Given the description of an element on the screen output the (x, y) to click on. 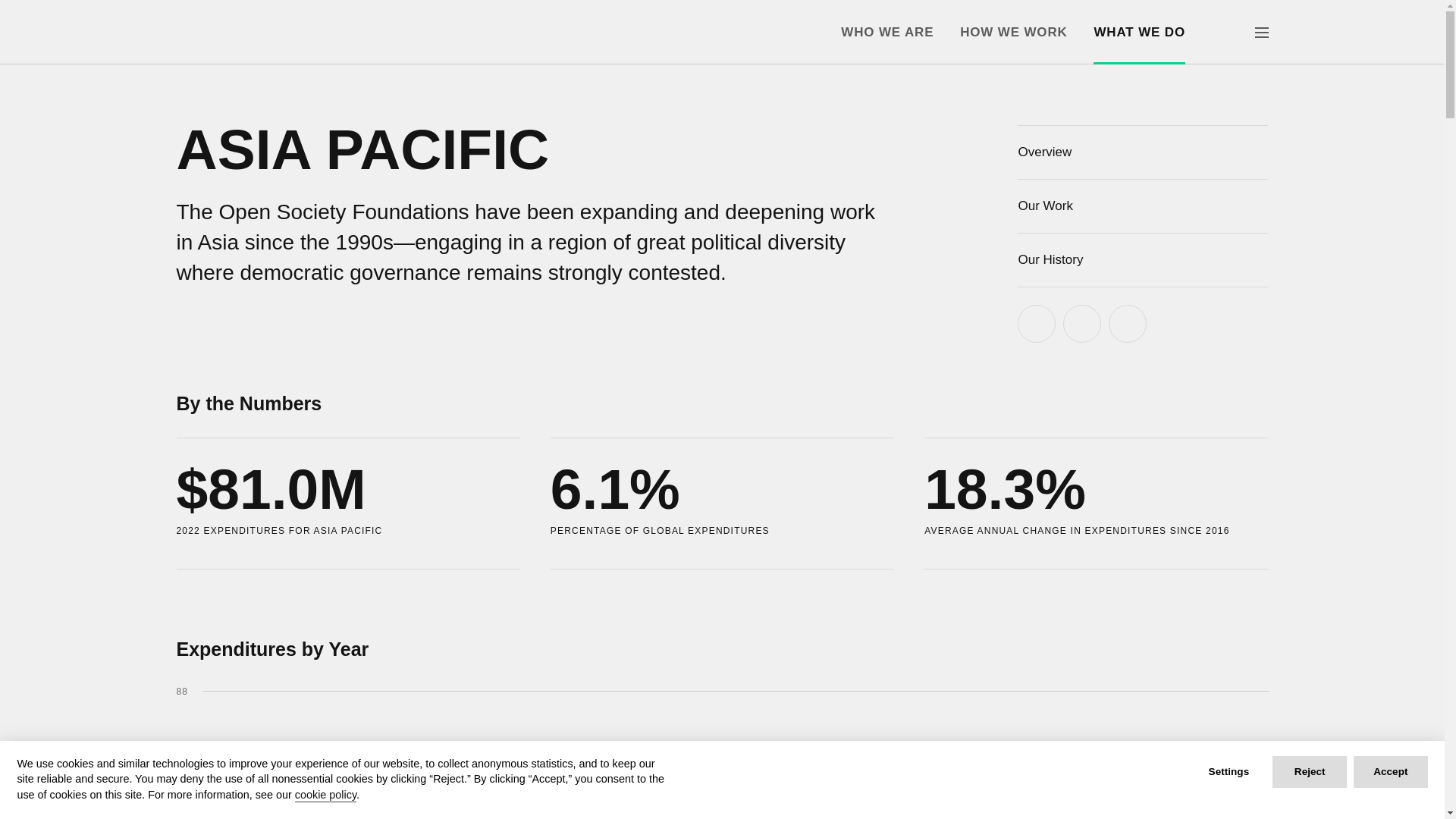
HOW WE WORK (1013, 32)
WHAT WE DO (1139, 32)
Open Society Foundations (222, 31)
WHO WE ARE (887, 32)
